Given the description of an element on the screen output the (x, y) to click on. 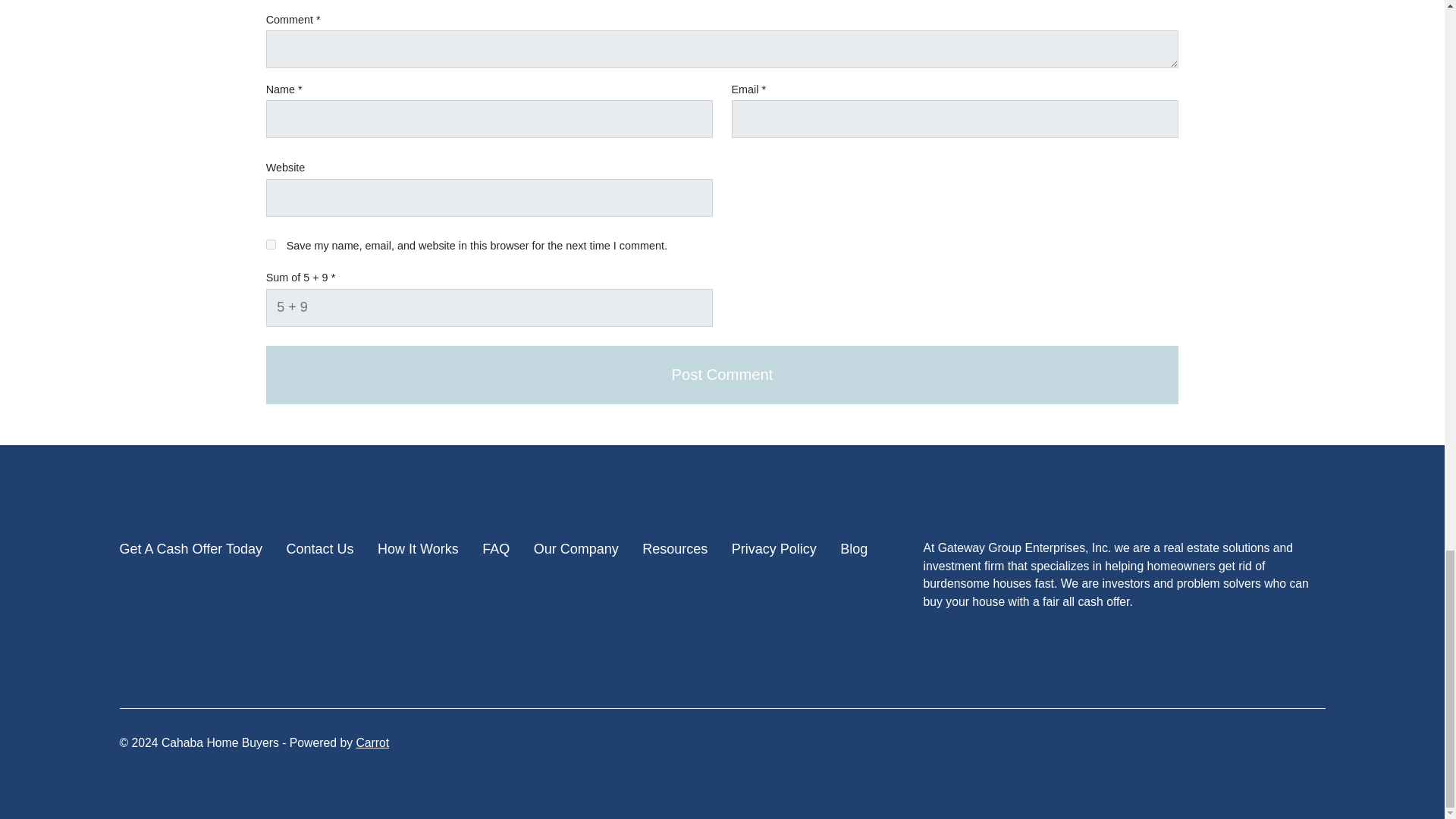
FAQ (495, 548)
Get A Cash Offer Today (190, 548)
Privacy Policy (774, 548)
How It Works (417, 548)
yes (271, 244)
Carrot (371, 742)
Our Company (576, 548)
Resources (674, 548)
Contact Us (319, 548)
Post Comment (722, 374)
Blog (853, 548)
Post Comment (722, 374)
Facebook (1313, 753)
